Given the description of an element on the screen output the (x, y) to click on. 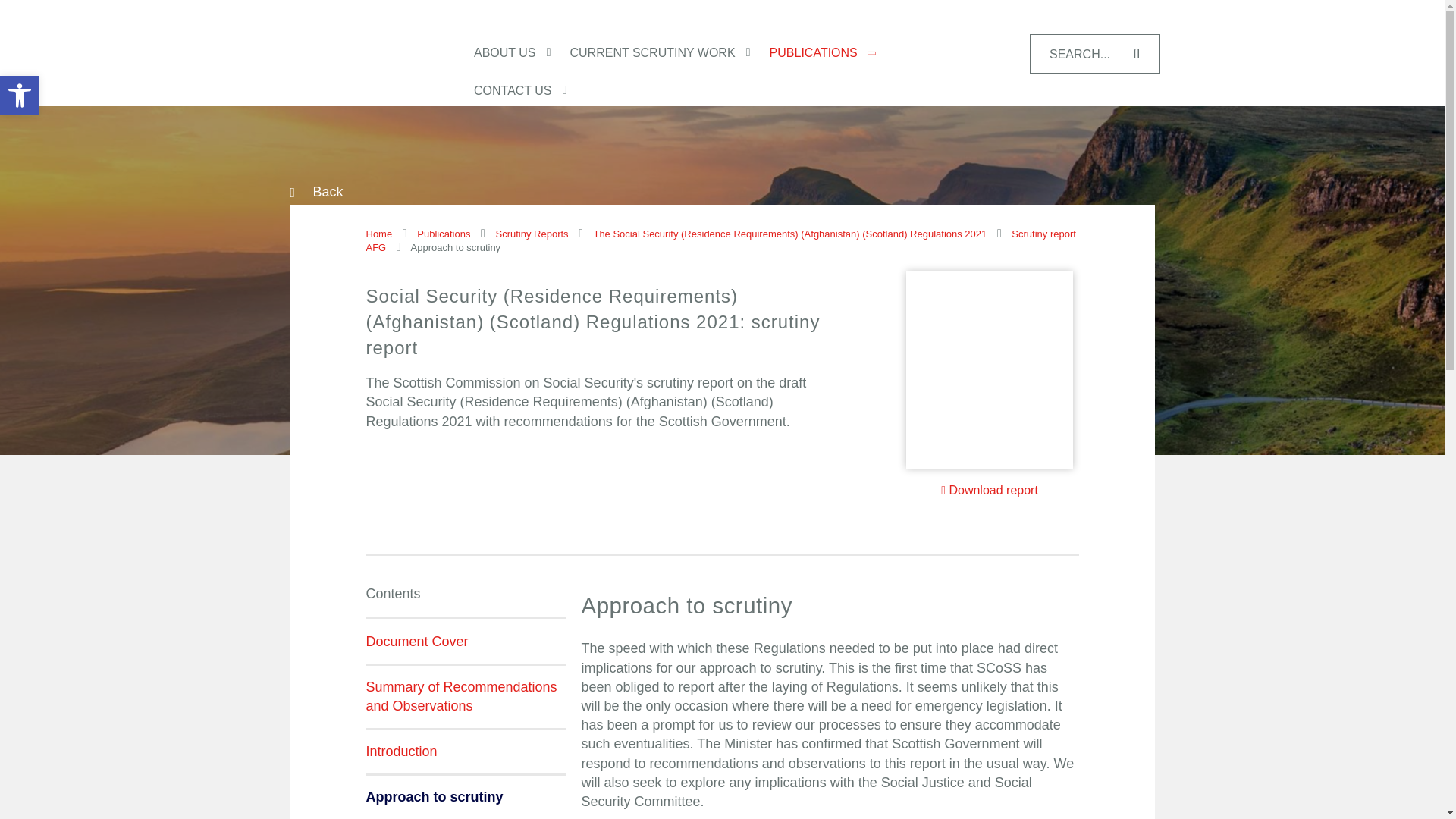
Accessibility Tools (19, 95)
Scrutiny report AFG (720, 240)
PUBLICATIONS (830, 53)
ABOUT US (522, 53)
Accessibility Tools (19, 95)
CURRENT SCRUTINY WORK (670, 53)
Back (323, 191)
Publications (443, 233)
Home (378, 233)
SCoSSLogo (356, 52)
Document Cover (19, 95)
Scrutiny Reports (465, 648)
CONTACT US (531, 233)
Download report (530, 90)
